Given the description of an element on the screen output the (x, y) to click on. 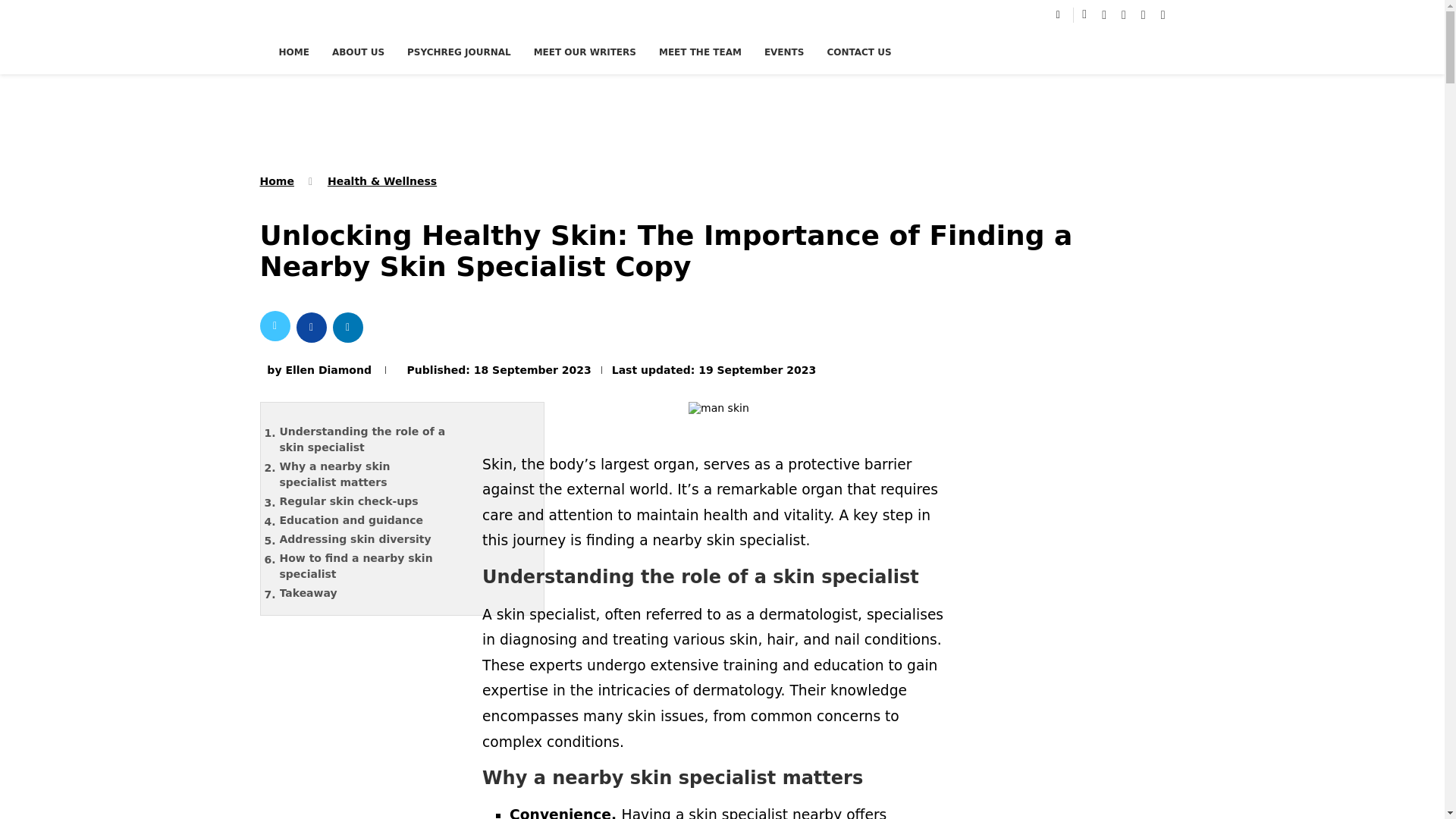
Understanding the role of a skin specialist (373, 439)
man skin (718, 411)
Regular skin check-ups (373, 501)
MEET THE TEAM (700, 52)
Education and guidance (373, 520)
PSYCHREG JOURNAL (459, 52)
Why a nearby skin specialist matters (373, 474)
How to find a nearby skin specialist (373, 566)
CONTACT US (859, 52)
ABOUT US (357, 52)
Takeaway (373, 592)
Addressing skin diversity (373, 538)
MEET OUR WRITERS (585, 52)
EVENTS (784, 52)
